Given the description of an element on the screen output the (x, y) to click on. 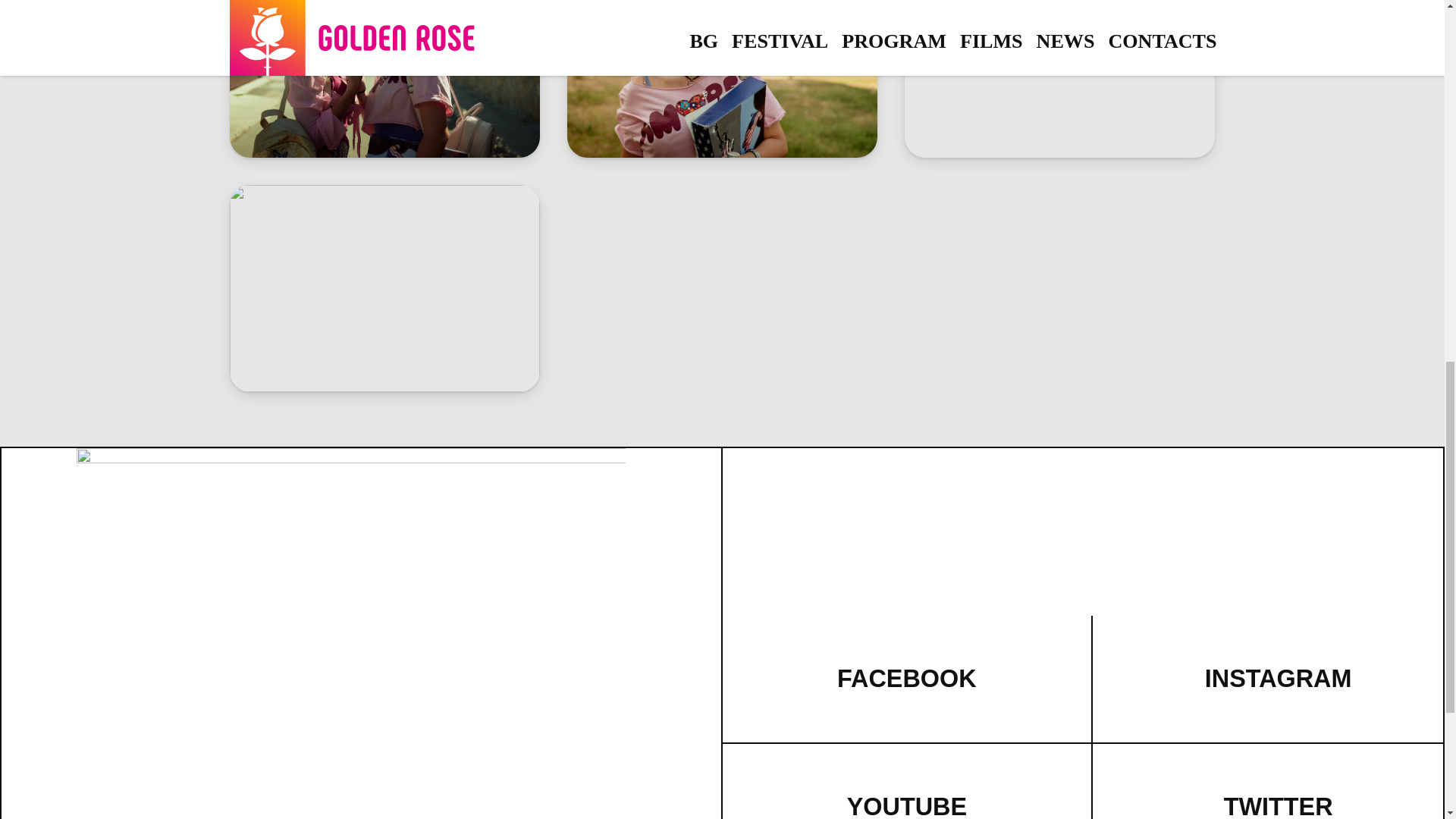
Back to top (1413, 26)
YOUTUBE (906, 806)
TWITTER (1278, 806)
INSTAGRAM (1278, 678)
FACEBOOK (906, 678)
